Given the description of an element on the screen output the (x, y) to click on. 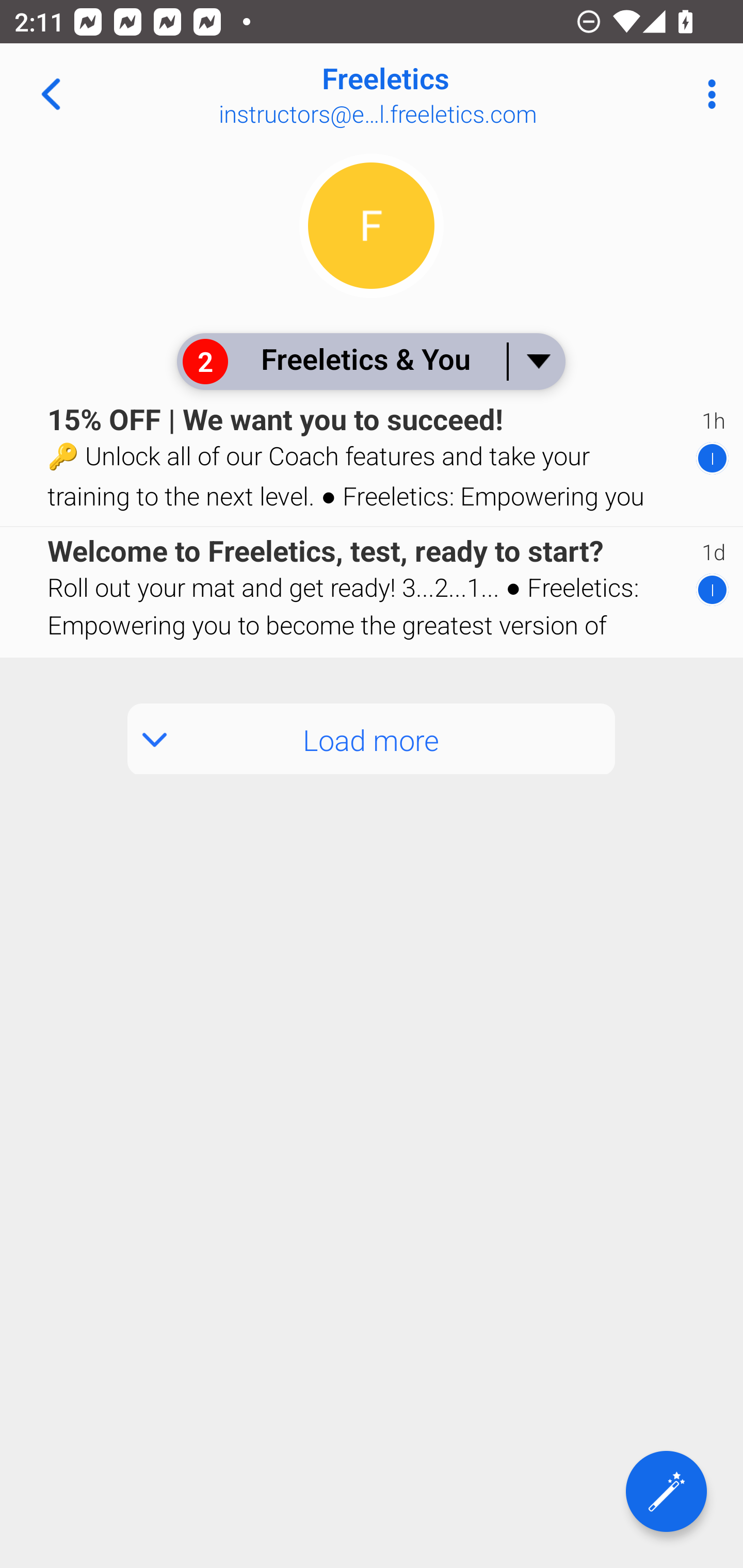
Navigate up (50, 93)
Freeletics instructors@email.freeletics.com (436, 93)
More Options (706, 93)
2 Freeletics & You (370, 361)
Load more (371, 739)
